Given the description of an element on the screen output the (x, y) to click on. 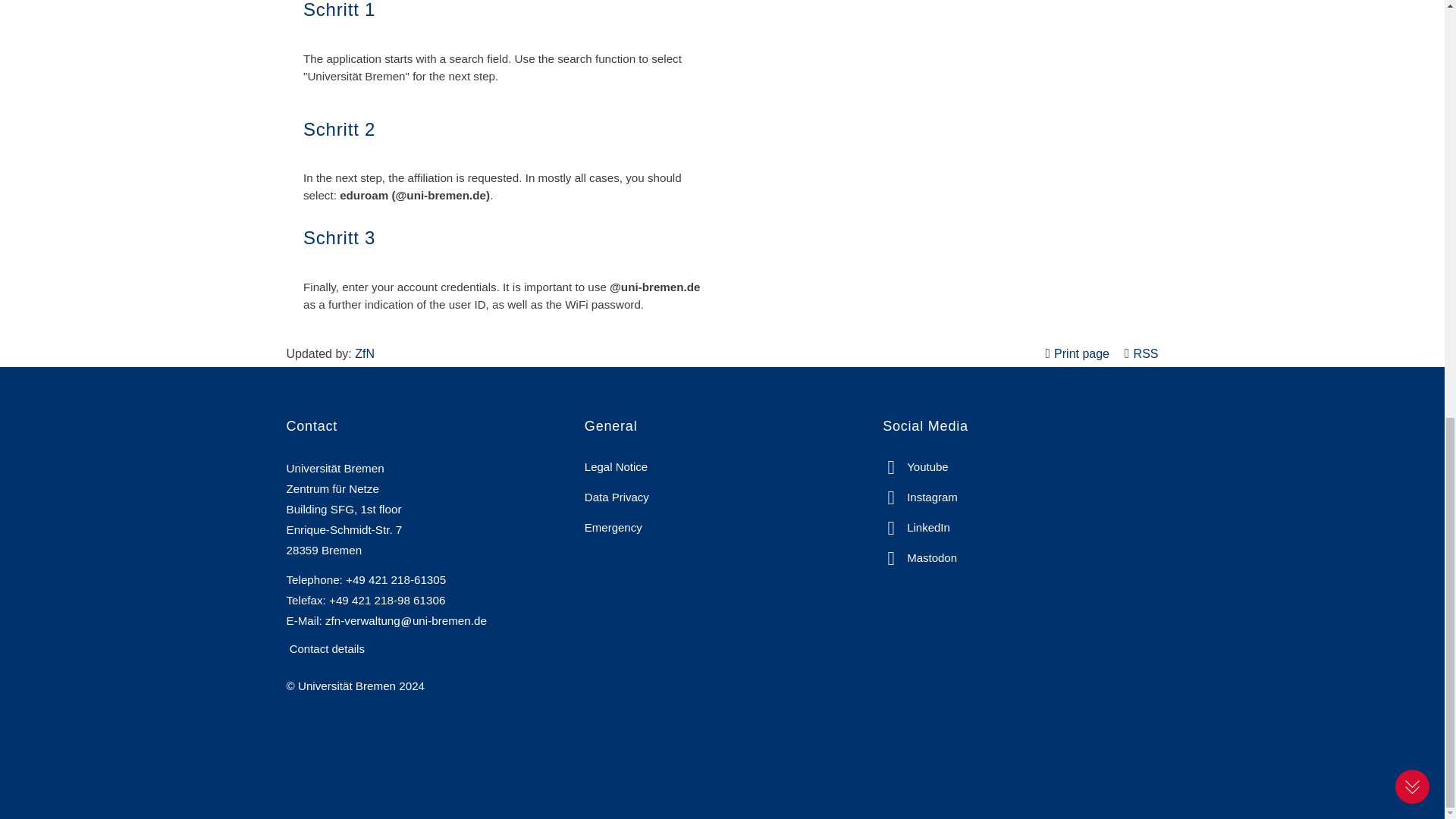
Open link to Linked In in a new window (916, 527)
Open link to Instagram in a new window (920, 496)
Open link to Mastodon in a new window (919, 557)
Seite als RSS Feed (1140, 353)
